Given the description of an element on the screen output the (x, y) to click on. 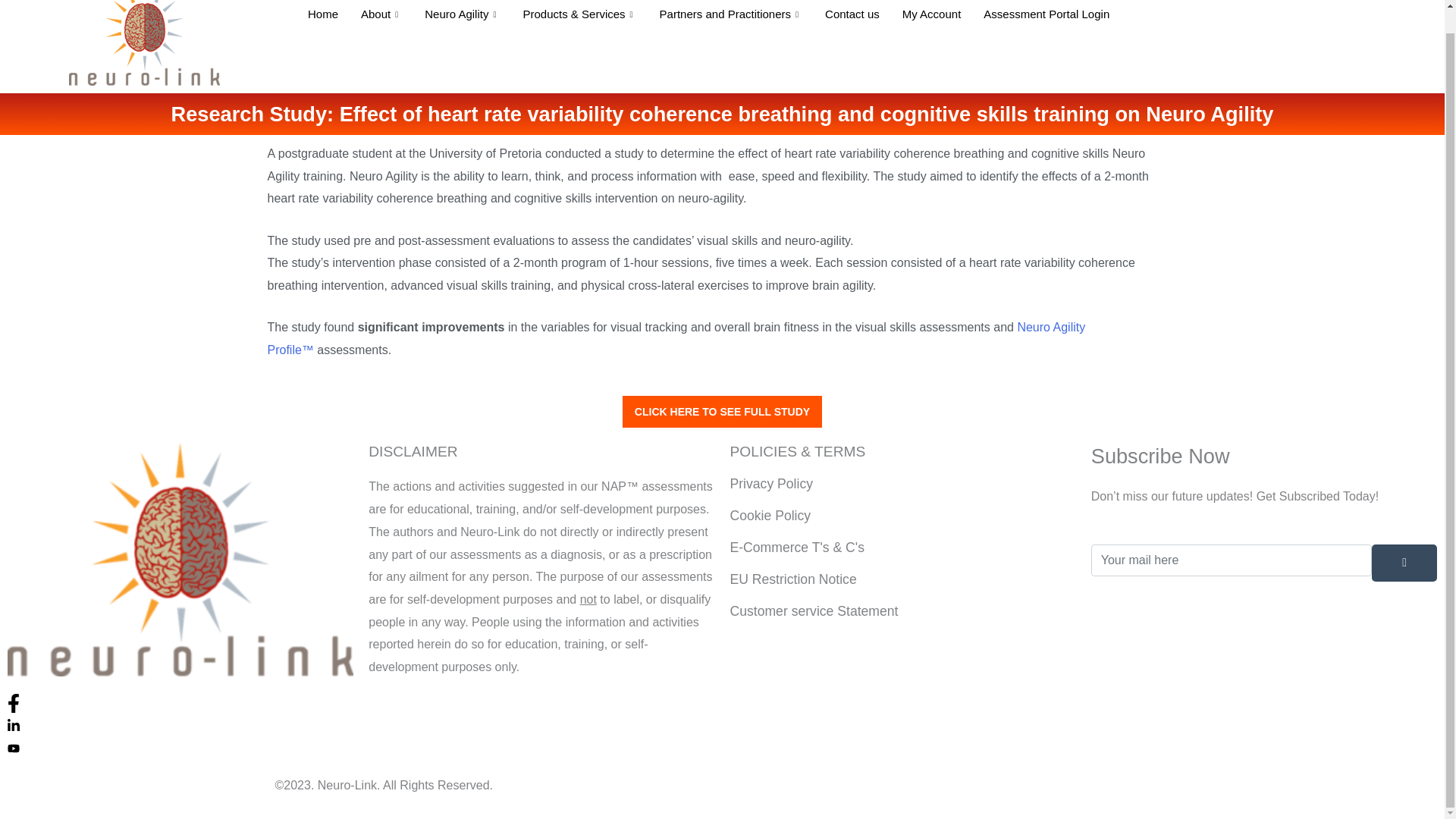
Partners and Practitioners (730, 22)
Home (323, 22)
Neuro Agility (462, 22)
About (381, 22)
